Given the description of an element on the screen output the (x, y) to click on. 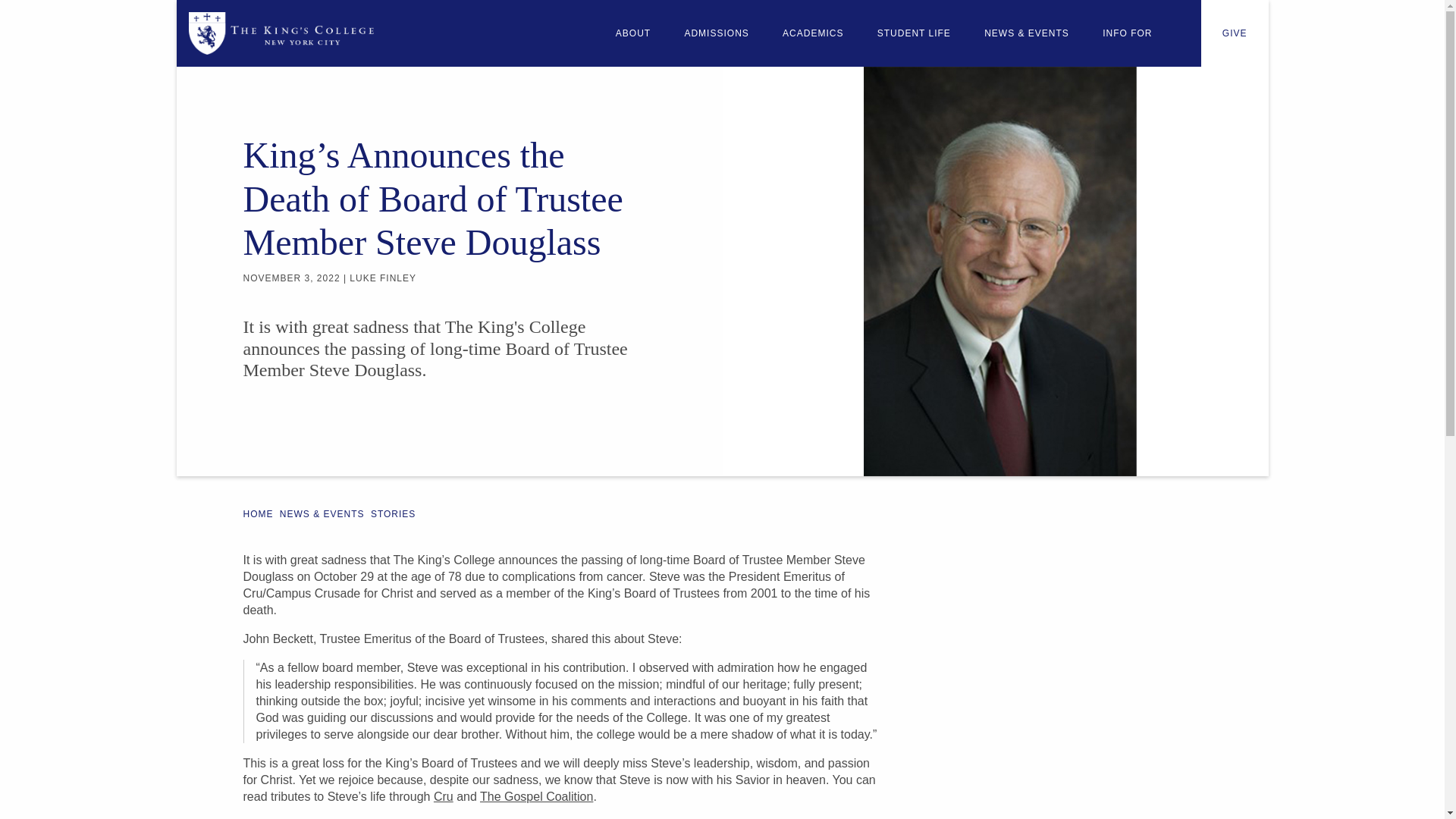
ADMISSIONS (716, 33)
STUDENT LIFE (913, 33)
ACADEMICS (812, 33)
